Given the description of an element on the screen output the (x, y) to click on. 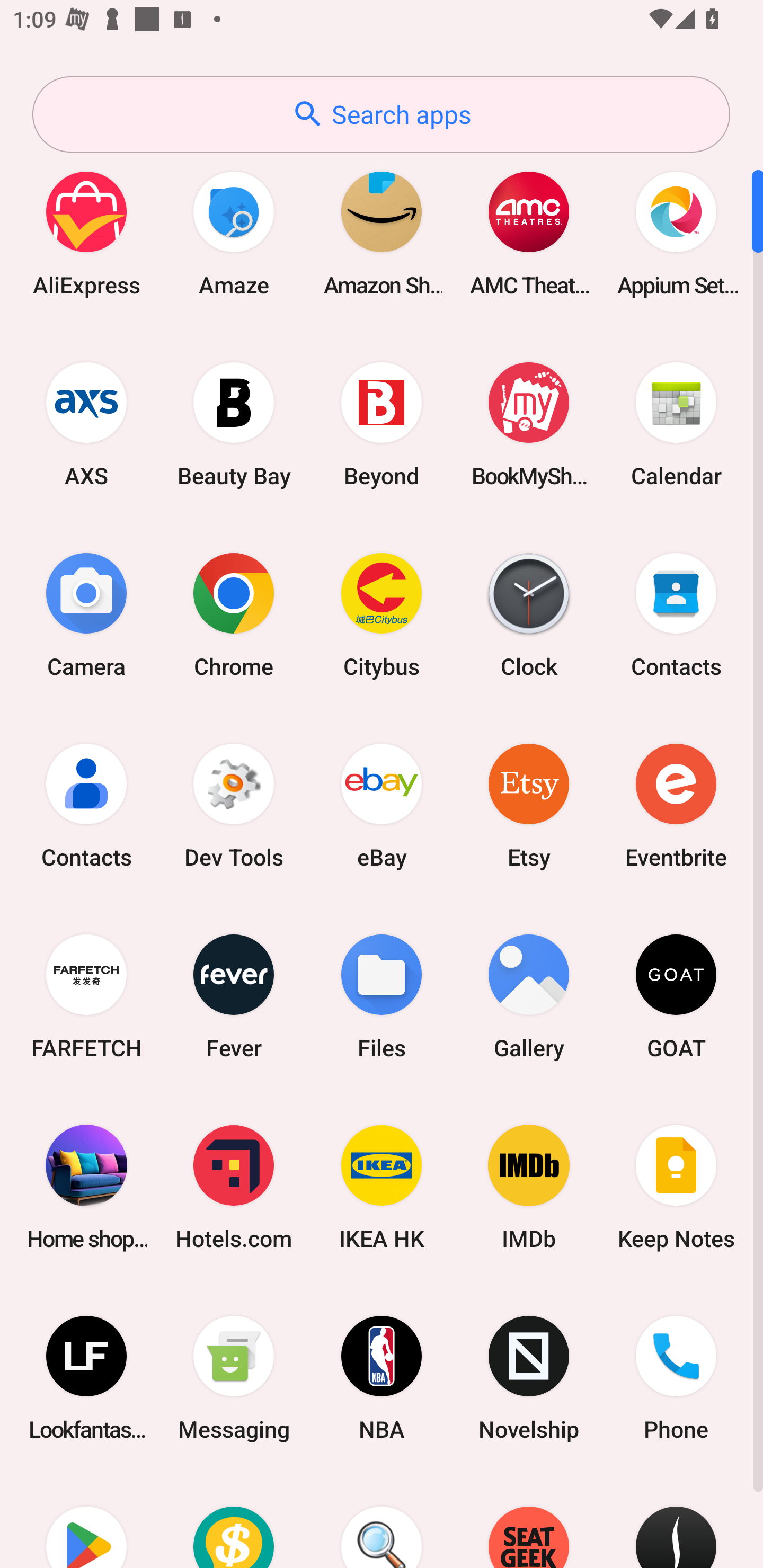
  Search apps (381, 114)
AliExpress (86, 233)
Amaze (233, 233)
Amazon Shopping (381, 233)
AMC Theatres (528, 233)
Appium Settings (676, 233)
AXS (86, 424)
Beauty Bay (233, 424)
Beyond (381, 424)
BookMyShow (528, 424)
Calendar (676, 424)
Camera (86, 614)
Chrome (233, 614)
Citybus (381, 614)
Clock (528, 614)
Contacts (676, 614)
Contacts (86, 805)
Dev Tools (233, 805)
eBay (381, 805)
Etsy (528, 805)
Eventbrite (676, 805)
FARFETCH (86, 996)
Fever (233, 996)
Files (381, 996)
Gallery (528, 996)
GOAT (676, 996)
Home shopping (86, 1186)
Hotels.com (233, 1186)
IKEA HK (381, 1186)
IMDb (528, 1186)
Keep Notes (676, 1186)
Lookfantastic (86, 1377)
Messaging (233, 1377)
NBA (381, 1377)
Novelship (528, 1377)
Phone (676, 1377)
